Given the description of an element on the screen output the (x, y) to click on. 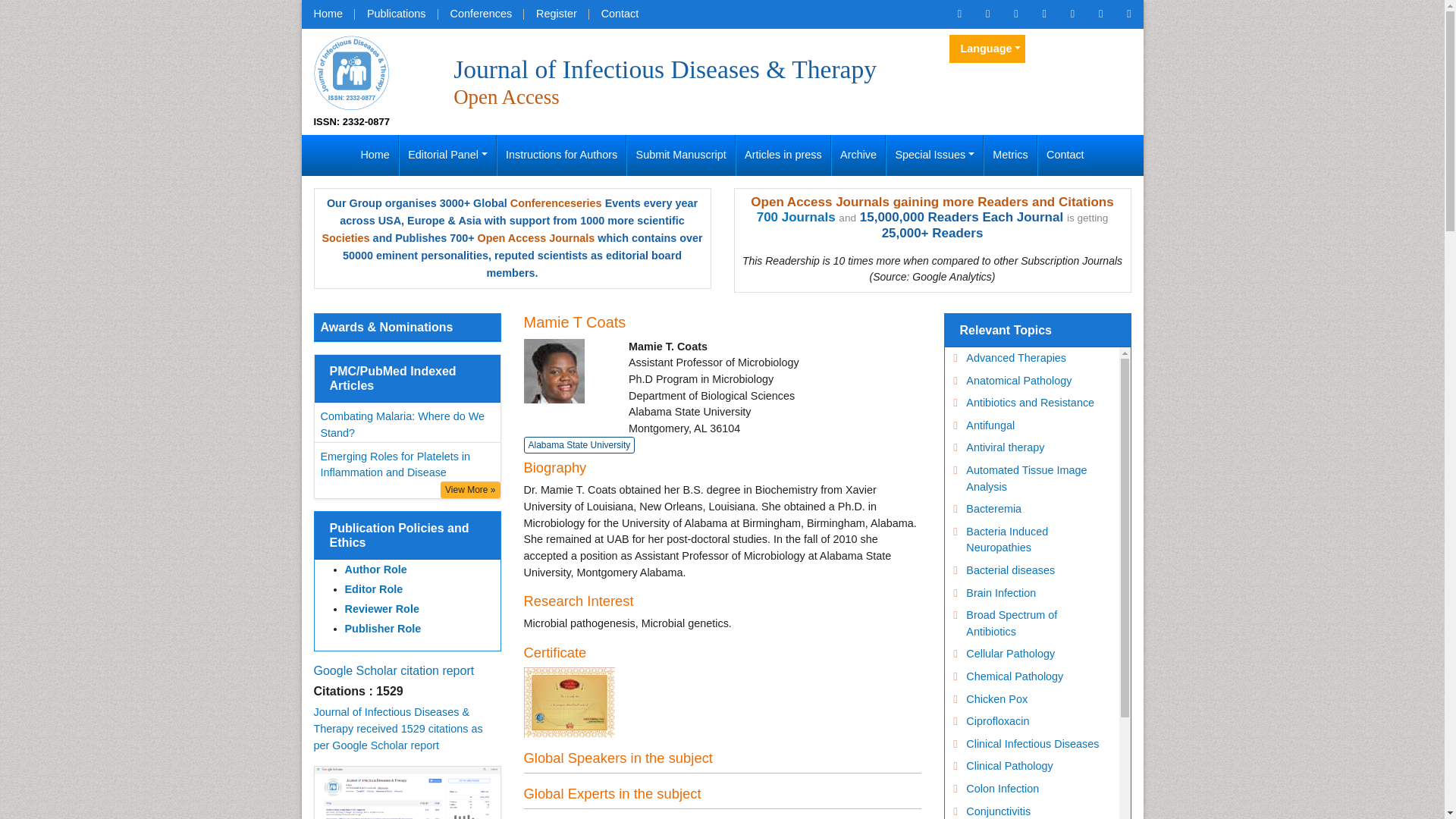
Metrics (1010, 155)
Contact (619, 14)
Omics Facebook (987, 14)
Instructions for Authors (561, 155)
Register (556, 14)
Register (556, 14)
Publications (396, 14)
Contact (619, 14)
Articles in press (782, 155)
Editorial Panel (447, 155)
